Given the description of an element on the screen output the (x, y) to click on. 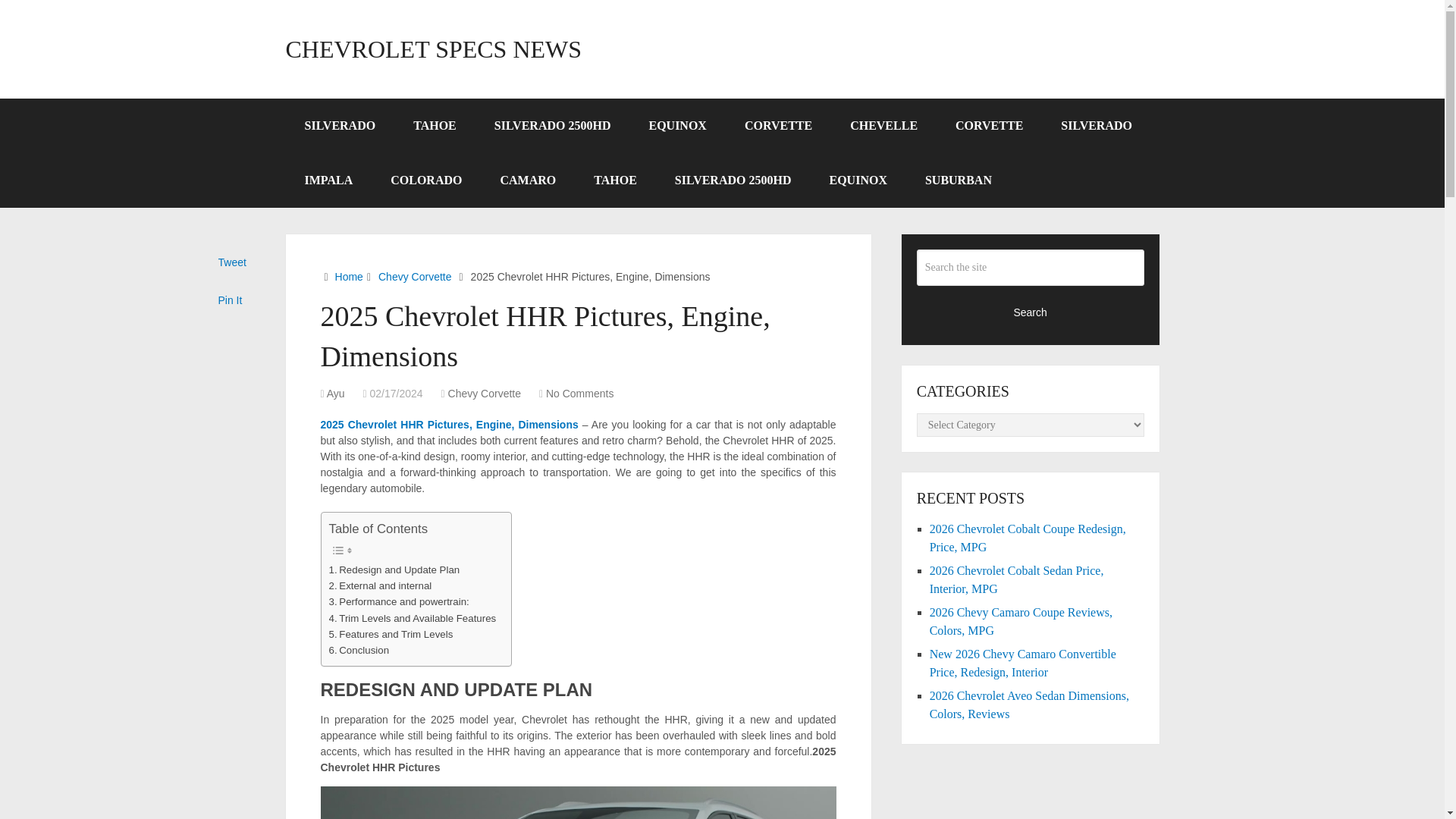
IMPALA (328, 180)
Redesign and Update Plan (394, 569)
2025 Chevrolet HHR Pictures, Engine, Dimensions (449, 424)
Pin It (230, 300)
TAHOE (435, 125)
TAHOE (615, 180)
CHEVROLET SPECS NEWS (432, 48)
No Comments (579, 393)
External and internal (380, 585)
EQUINOX (676, 125)
SILVERADO 2500HD (733, 180)
Conclusion (359, 650)
CORVETTE (989, 125)
Tweet (232, 262)
COLORADO (425, 180)
